Given the description of an element on the screen output the (x, y) to click on. 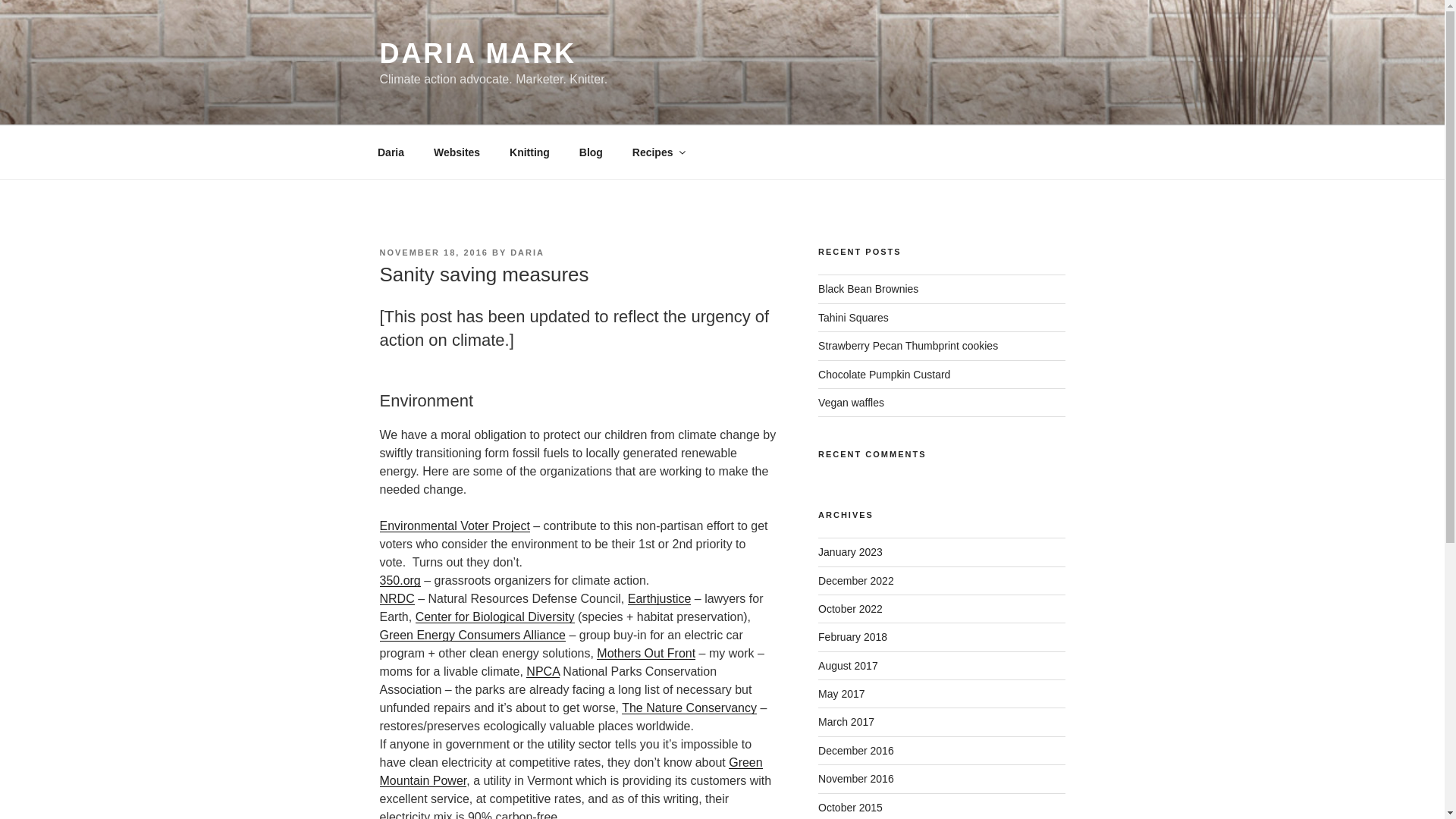
August 2017 (847, 665)
Center for Biological Diversity (494, 616)
Strawberry Pecan Thumbprint cookies (907, 345)
NPCA (542, 671)
Vegan waffles (850, 402)
DARIA MARK (476, 52)
Websites (456, 151)
NRDC (395, 598)
January 2023 (850, 551)
Daria (390, 151)
Blog (590, 151)
Black Bean Brownies (868, 288)
Green Energy Consumers Alliance (471, 634)
Earthjustice (659, 598)
October 2022 (850, 608)
